Given the description of an element on the screen output the (x, y) to click on. 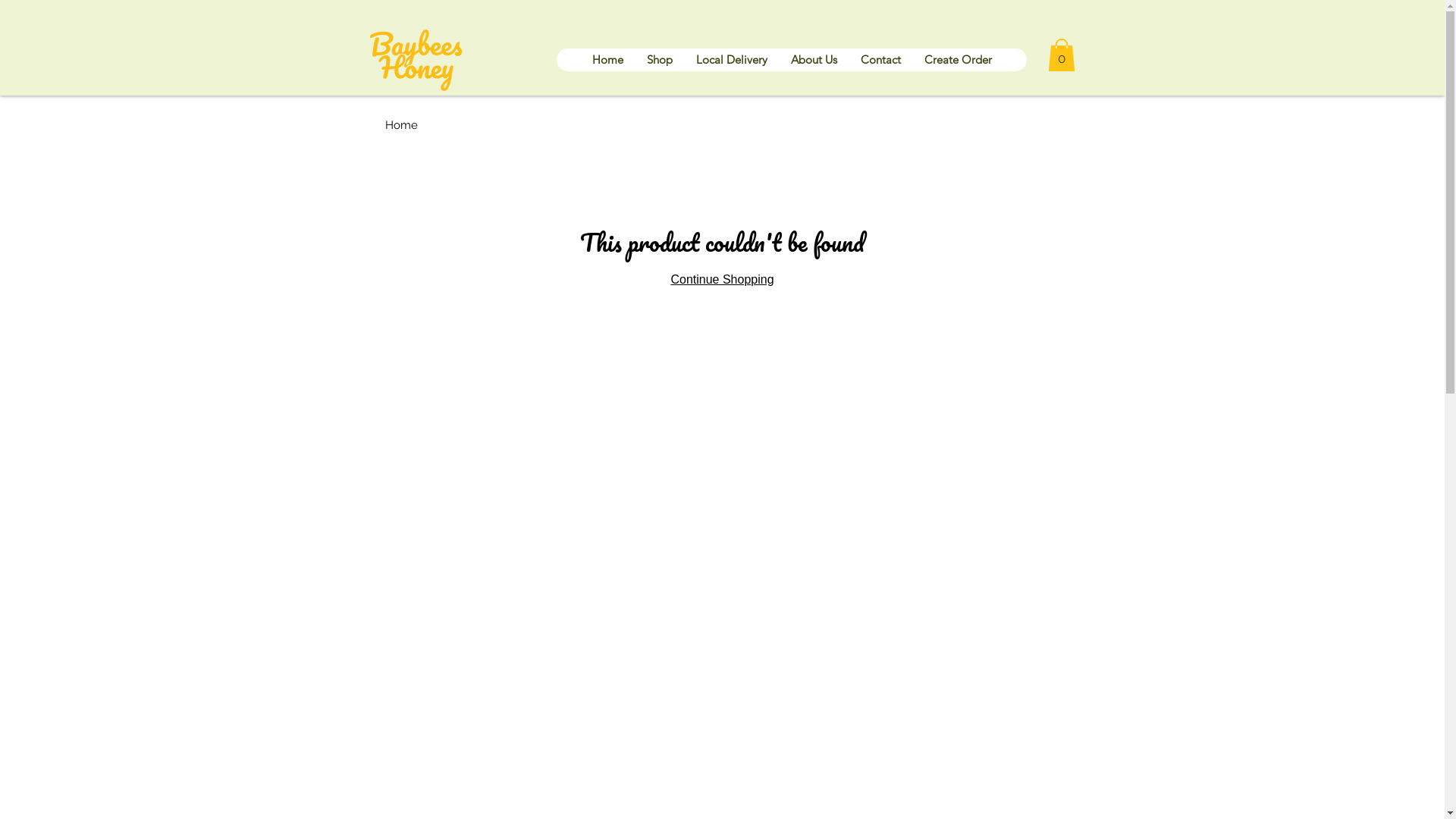
Home Element type: text (606, 59)
Continue Shopping Element type: text (721, 279)
Create Order Element type: text (956, 59)
0 Element type: text (1061, 54)
Local Delivery Element type: text (731, 59)
Contact Element type: text (879, 59)
Shop Element type: text (658, 59)
About Us Element type: text (812, 59)
Home Element type: text (401, 124)
